Given the description of an element on the screen output the (x, y) to click on. 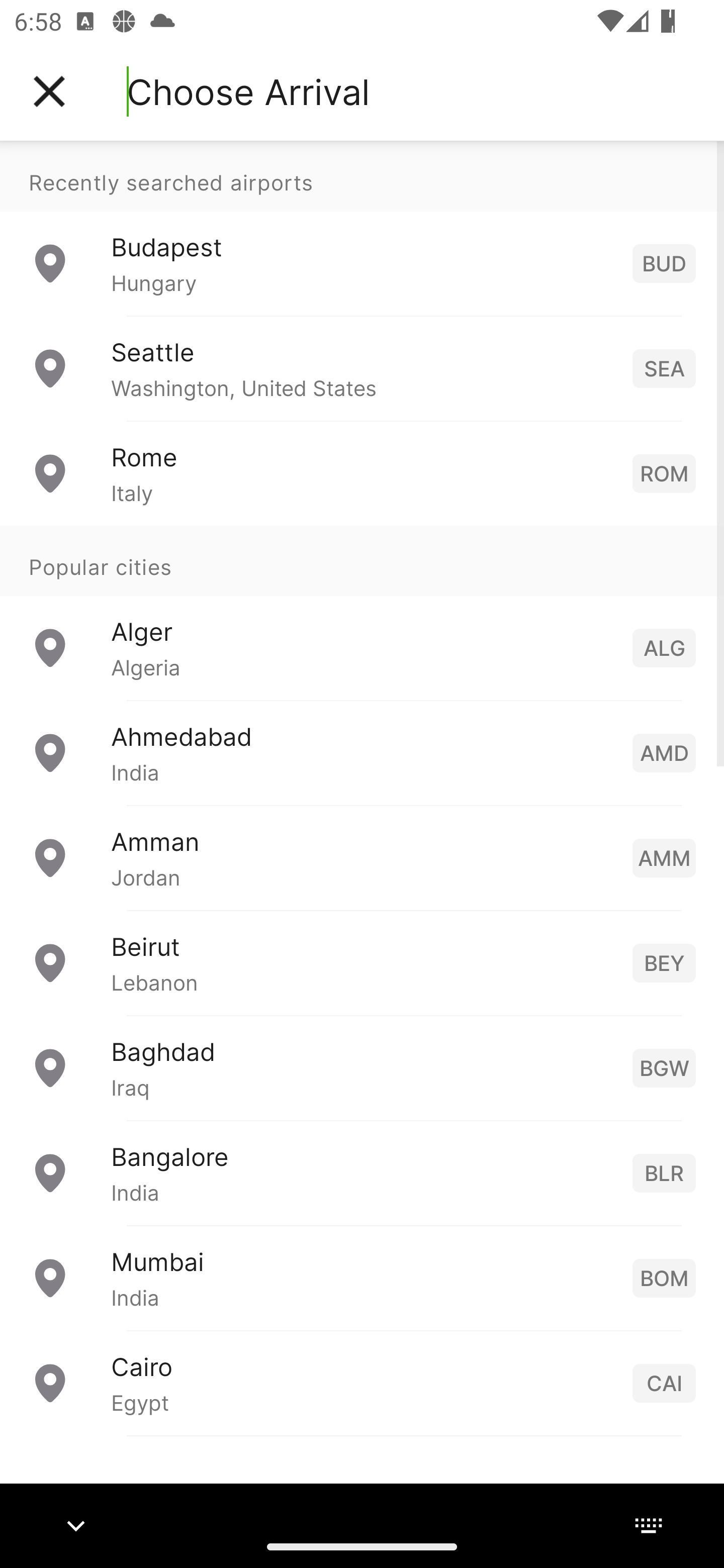
Choose Arrival (247, 91)
Recently searched airports Budapest Hungary BUD (362, 228)
Recently searched airports (362, 176)
Seattle Washington, United States SEA (362, 367)
Rome Italy ROM (362, 472)
Popular cities Alger Algeria ALG (362, 612)
Popular cities (362, 560)
Ahmedabad India AMD (362, 751)
Amman Jordan AMM (362, 856)
Beirut Lebanon BEY (362, 961)
Baghdad Iraq BGW (362, 1066)
Bangalore India BLR (362, 1171)
Mumbai India BOM (362, 1276)
Cairo Egypt CAI (362, 1381)
